Given the description of an element on the screen output the (x, y) to click on. 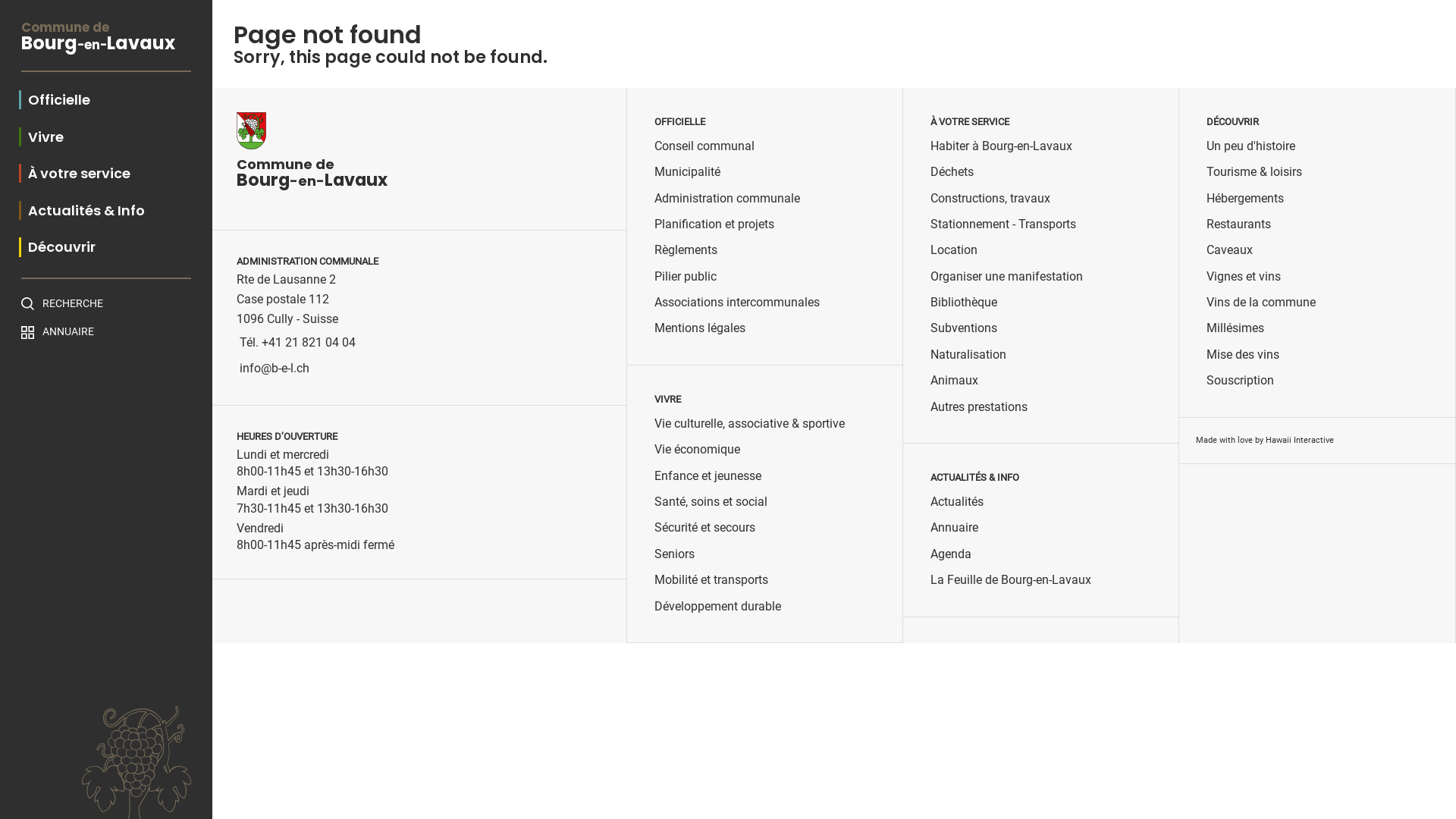
Pilier public Element type: text (685, 276)
Enfance et jeunesse Element type: text (707, 475)
Vins de la commune Element type: text (1260, 302)
info@b-e-l.ch Element type: text (274, 368)
Souscription Element type: text (1240, 380)
Vignes et vins Element type: text (1243, 276)
Autres prestations Element type: text (978, 406)
Mise des vins Element type: text (1242, 354)
Officielle Element type: text (54, 99)
Made with love by Hawaii Interactive Element type: text (1264, 440)
Location Element type: text (953, 249)
La Feuille de Bourg-en-Lavaux Element type: text (1010, 579)
Animaux Element type: text (954, 380)
Tourisme & loisirs Element type: text (1254, 171)
Conseil communal Element type: text (704, 145)
Stationnement - Transports Element type: text (1003, 224)
Organiser une manifestation Element type: text (1006, 276)
OFFICIELLE Element type: text (679, 121)
Vie culturelle, associative & sportive Element type: text (749, 423)
RECHERCHE Element type: text (106, 303)
Subventions Element type: text (963, 327)
Constructions, travaux Element type: text (990, 198)
Un peu d'histoire Element type: text (1250, 145)
VIVRE Element type: text (667, 399)
Commune de
Bourg-en-Lavaux Element type: text (106, 46)
Restaurants Element type: text (1238, 224)
Associations intercommunales Element type: text (736, 302)
Naturalisation Element type: text (968, 354)
Agenda Element type: text (950, 553)
Caveaux Element type: text (1229, 249)
Seniors Element type: text (674, 553)
Administration communale Element type: text (727, 198)
Planification et projets Element type: text (714, 224)
ANNUAIRE Element type: text (106, 332)
Vivre Element type: text (40, 136)
Annuaire Element type: text (954, 527)
